Given the description of an element on the screen output the (x, y) to click on. 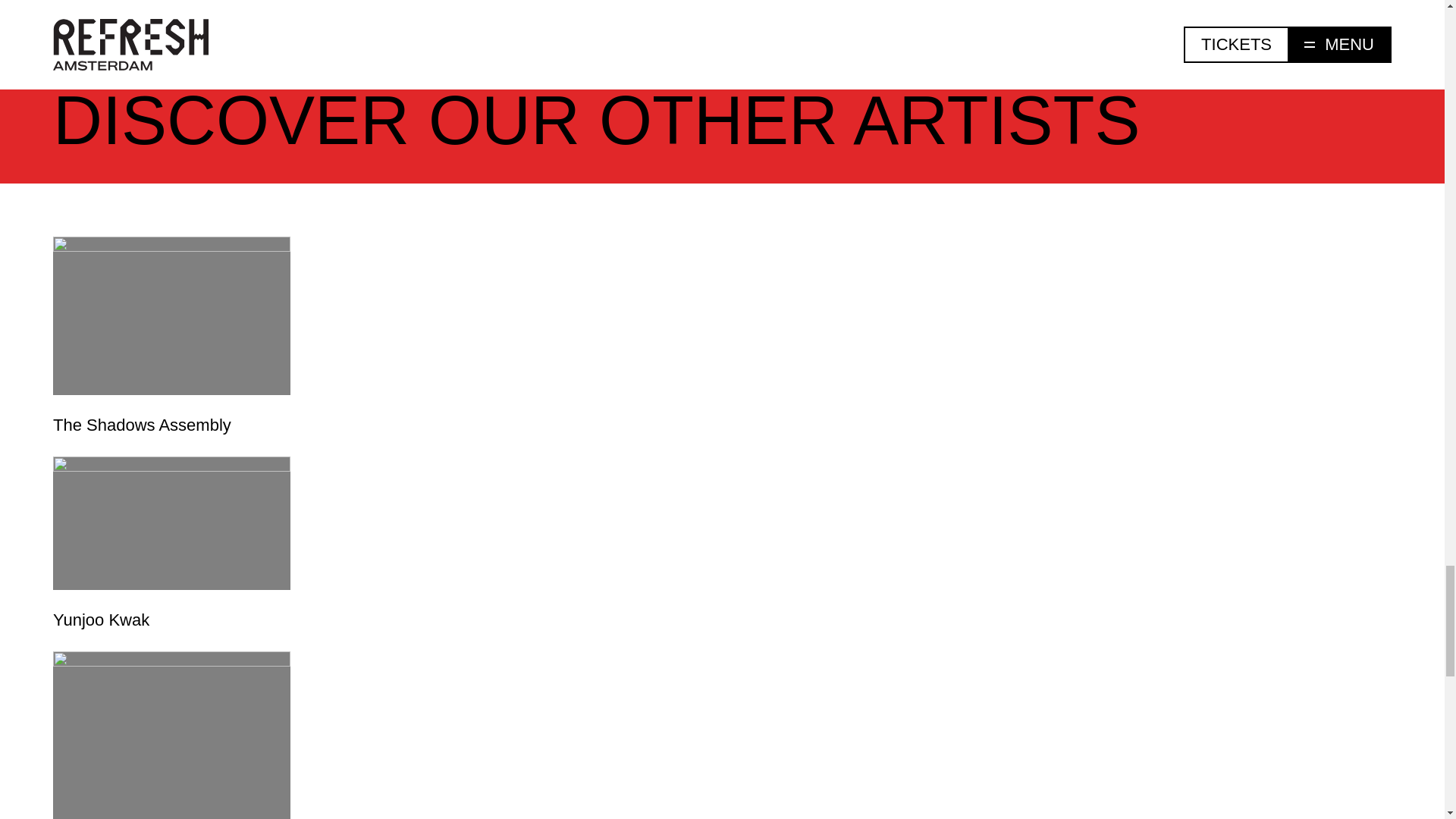
We Sell Reality (170, 735)
Yunjoo Kwak (170, 544)
The Shadows Assembly (170, 336)
